Given the description of an element on the screen output the (x, y) to click on. 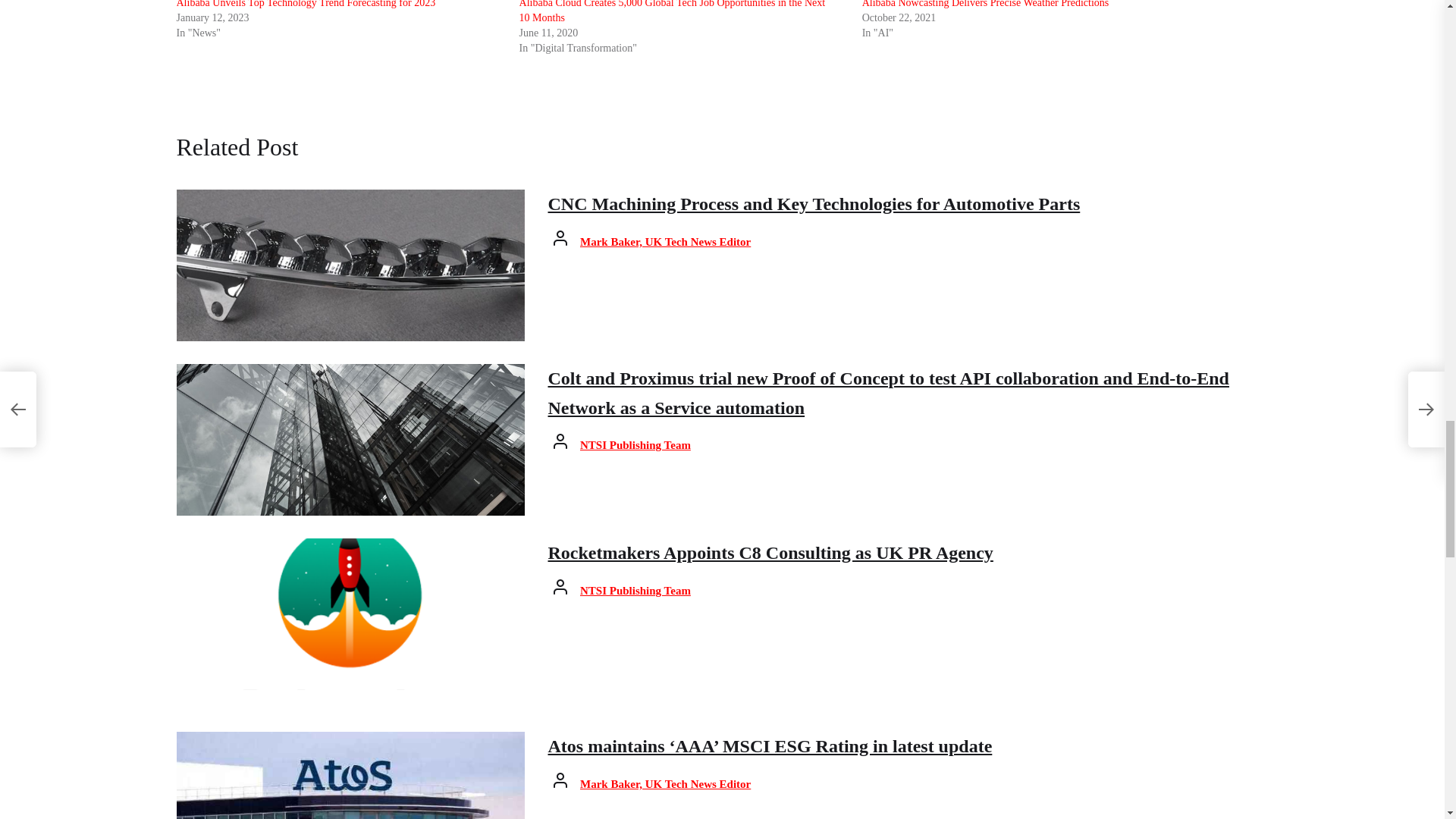
Alibaba Unveils Top Technology Trend Forecasting for 2023 (305, 4)
Alibaba Nowcasting Delivers Precise Weather Predictions (985, 4)
